Given the description of an element on the screen output the (x, y) to click on. 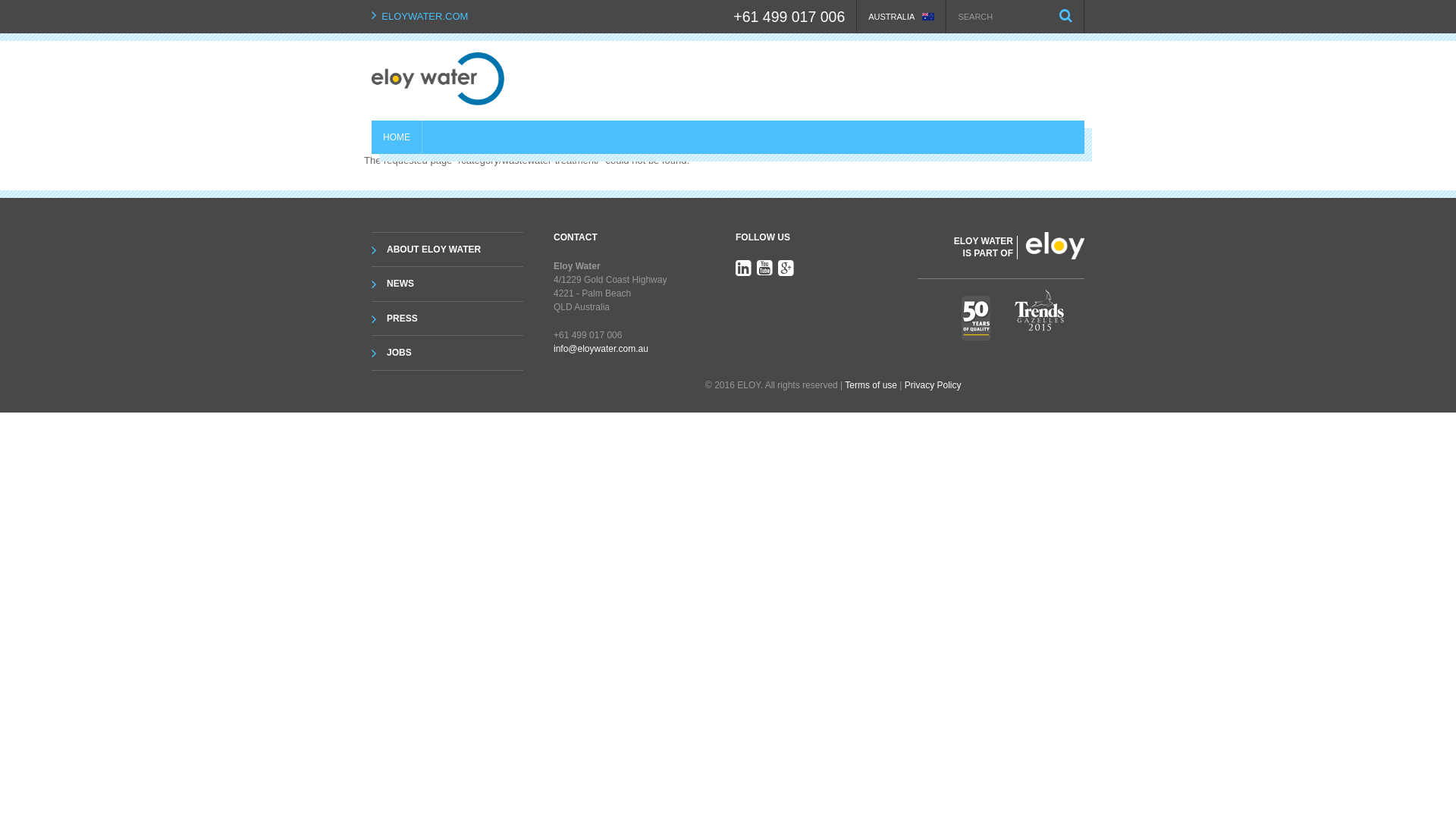
AUSTRALIA Element type: text (900, 16)
JOBS Element type: text (454, 352)
ABOUT ELOY WATER Element type: text (454, 249)
HOME Element type: text (396, 136)
info@eloywater.com.au Element type: text (600, 348)
ELOYWATER.COM Element type: text (424, 15)
Privacy Policy Element type: text (932, 384)
PRESS Element type: text (454, 318)
NEWS Element type: text (454, 283)
Terms of use Element type: text (870, 384)
